Given the description of an element on the screen output the (x, y) to click on. 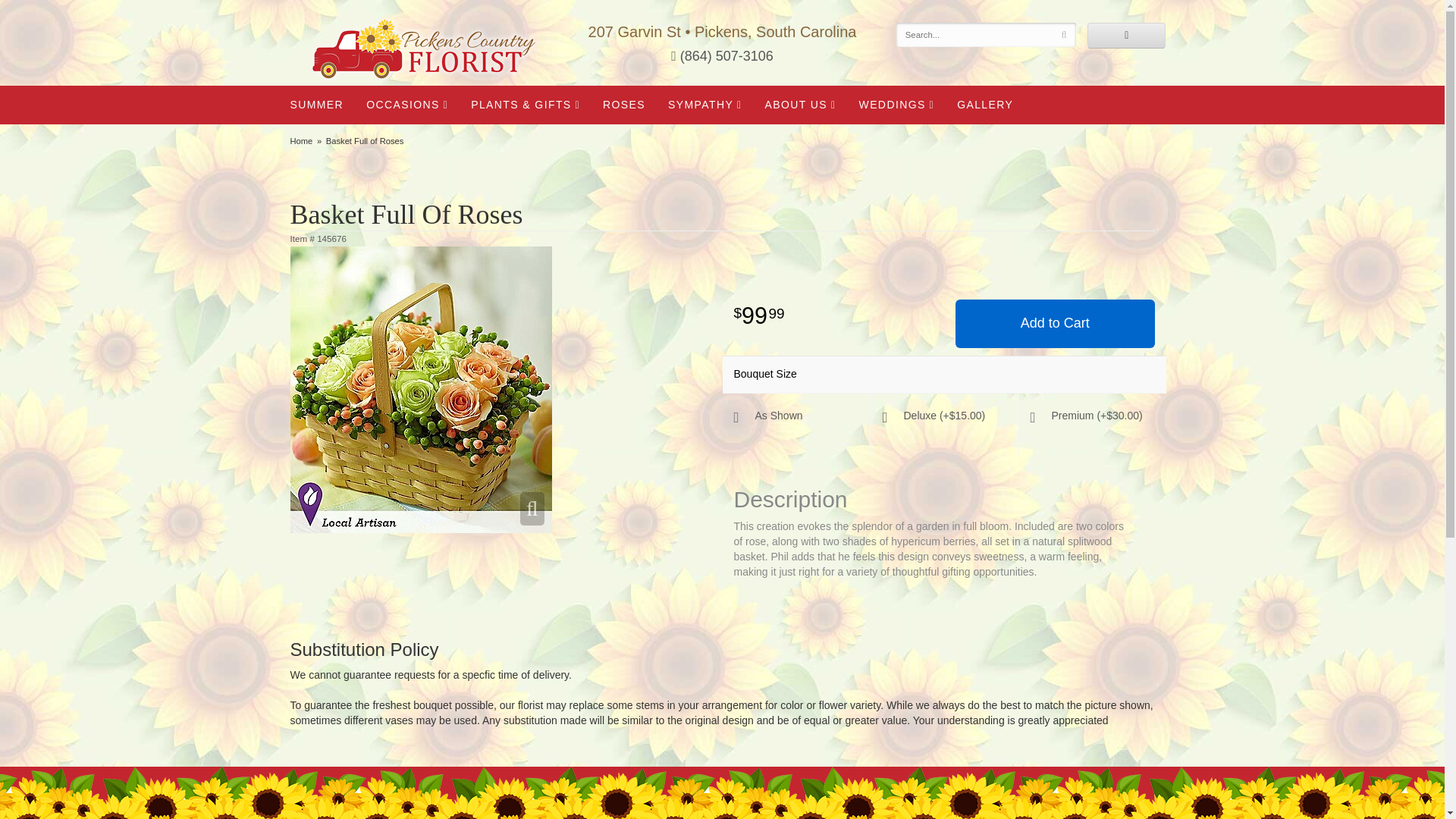
SUMMER (317, 104)
ABOUT US (800, 104)
ROSES (623, 104)
SYMPATHY (705, 104)
OCCASIONS (407, 104)
